Given the description of an element on the screen output the (x, y) to click on. 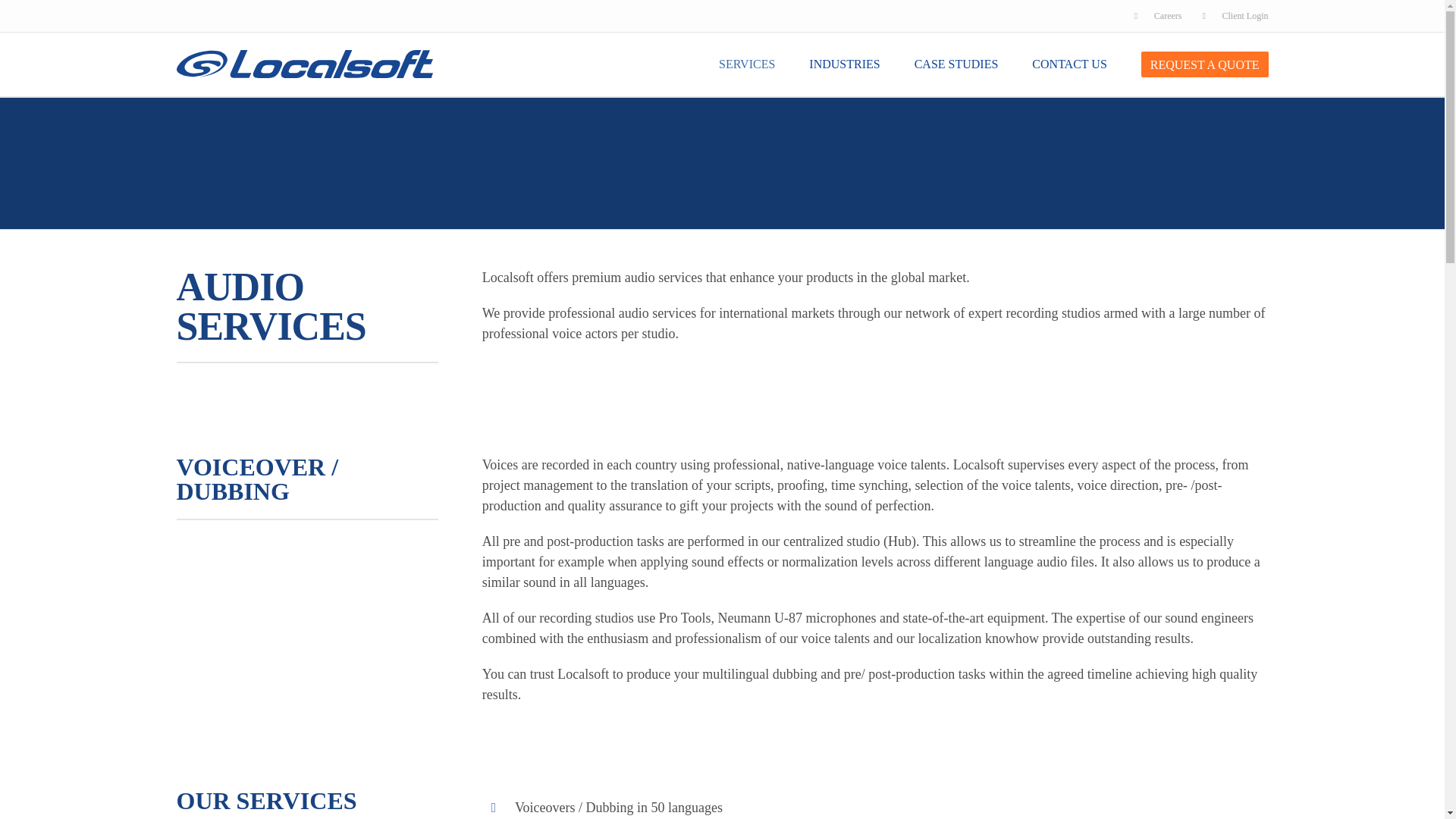
INDUSTRIES (844, 64)
Client Login (1230, 15)
CONTACT US (1069, 64)
Careers (1158, 15)
CASE STUDIES (956, 64)
SERVICES (746, 64)
REQUEST A QUOTE (1204, 63)
